Given the description of an element on the screen output the (x, y) to click on. 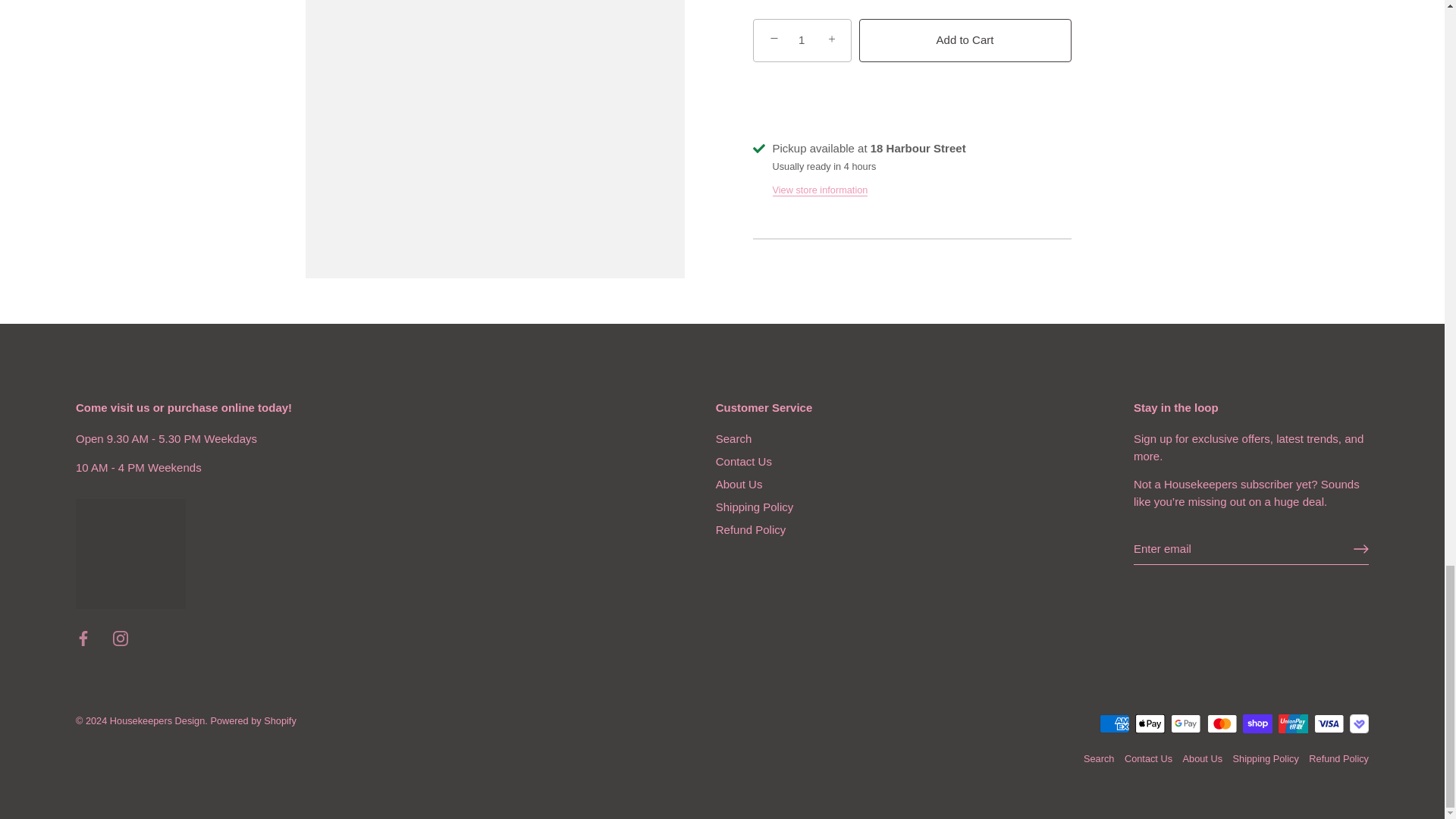
Google Pay (1185, 723)
Mastercard (1222, 723)
Apple Pay (1149, 723)
Union Pay (1293, 723)
Right arrow long (1361, 548)
Shop Pay (1257, 723)
American Express (1114, 723)
Instagram (120, 638)
Visa (1328, 723)
